Given the description of an element on the screen output the (x, y) to click on. 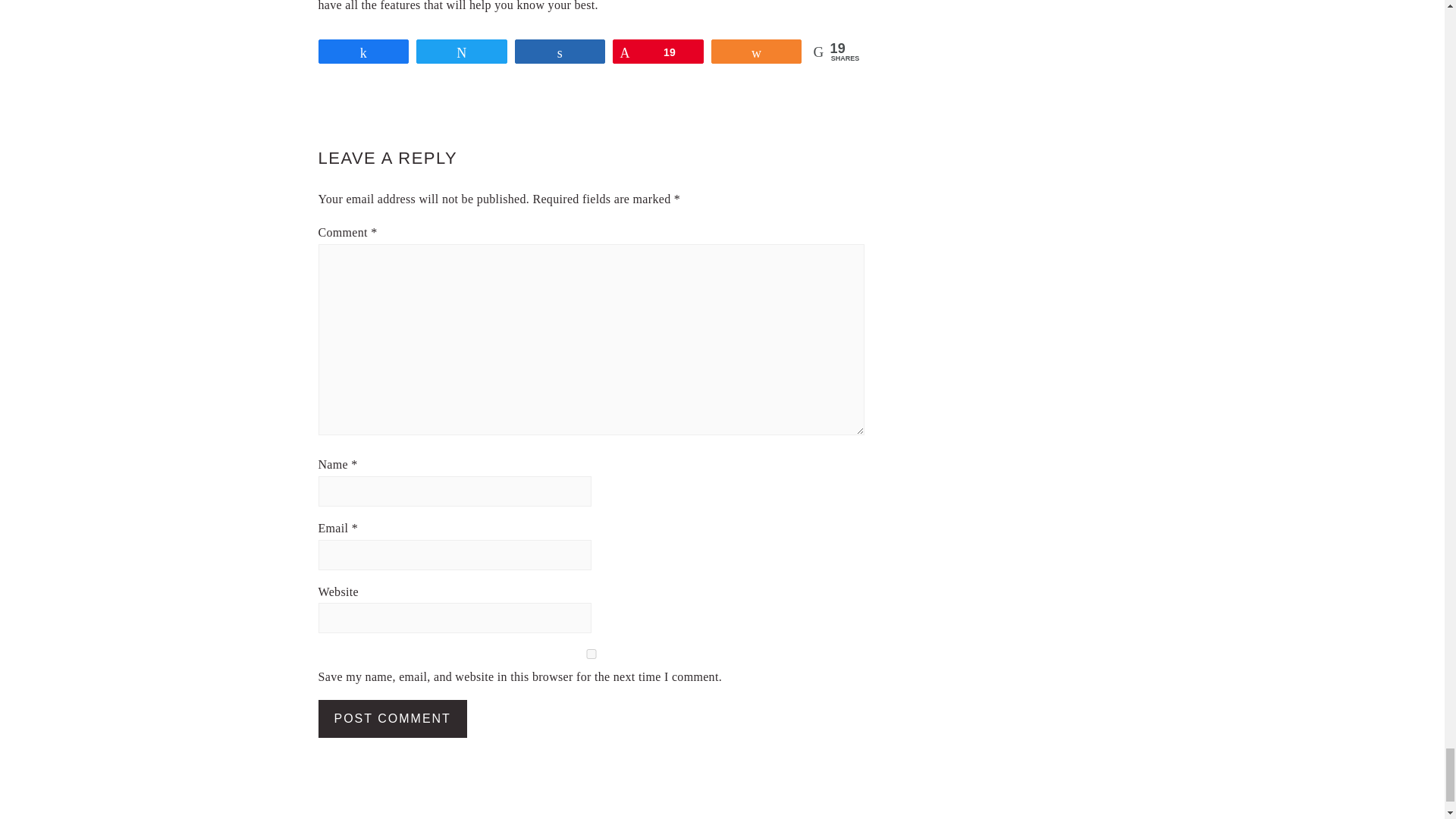
yes (591, 654)
Post Comment (392, 718)
